Given the description of an element on the screen output the (x, y) to click on. 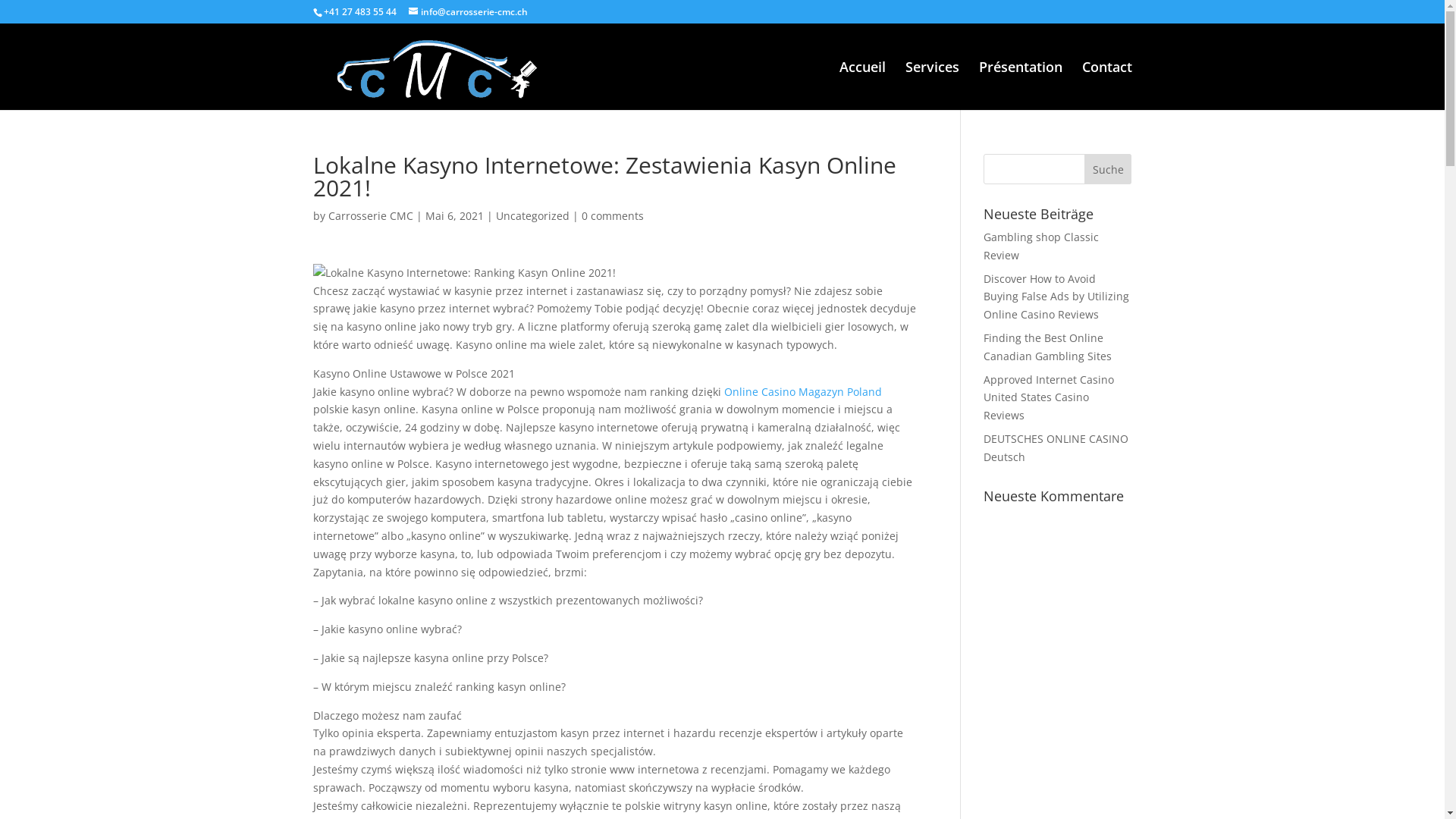
Services Element type: text (932, 85)
Online Casino Magazyn Poland Element type: text (802, 391)
Suche Element type: text (1108, 168)
Carrosserie CMC Element type: text (369, 215)
Uncategorized Element type: text (532, 215)
Contact Element type: text (1106, 85)
0 comments Element type: text (611, 215)
Gambling shop Classic Review Element type: text (1040, 245)
info@carrosserie-cmc.ch Element type: text (467, 11)
Approved Internet Casino United States Casino Reviews Element type: text (1048, 397)
Accueil Element type: text (861, 85)
DEUTSCHES ONLINE CASINO Deutsch Element type: text (1055, 447)
Finding the Best Online Canadian Gambling Sites Element type: text (1047, 346)
